Given the description of an element on the screen output the (x, y) to click on. 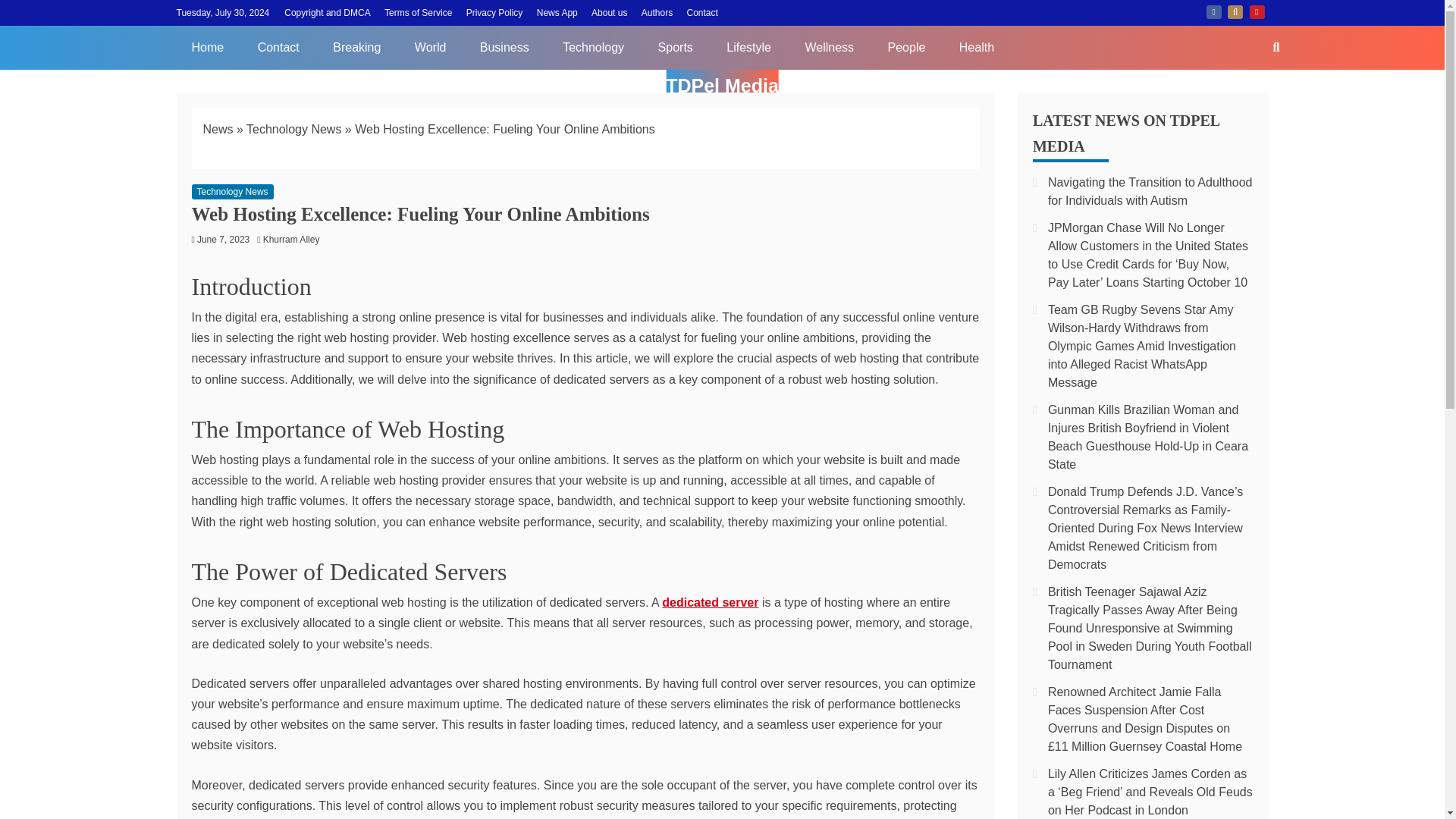
Terms of Service (417, 12)
June 7, 2023 (222, 239)
Facebook (1214, 11)
Contact (278, 46)
Health (976, 46)
Technology News (231, 191)
Copyright and DMCA (326, 12)
Business (504, 46)
Technology News (293, 128)
News App (557, 12)
Lifestyle (748, 46)
Pinterest (1257, 11)
Sports (675, 46)
Home (207, 46)
Privacy Policy (493, 12)
